Given the description of an element on the screen output the (x, y) to click on. 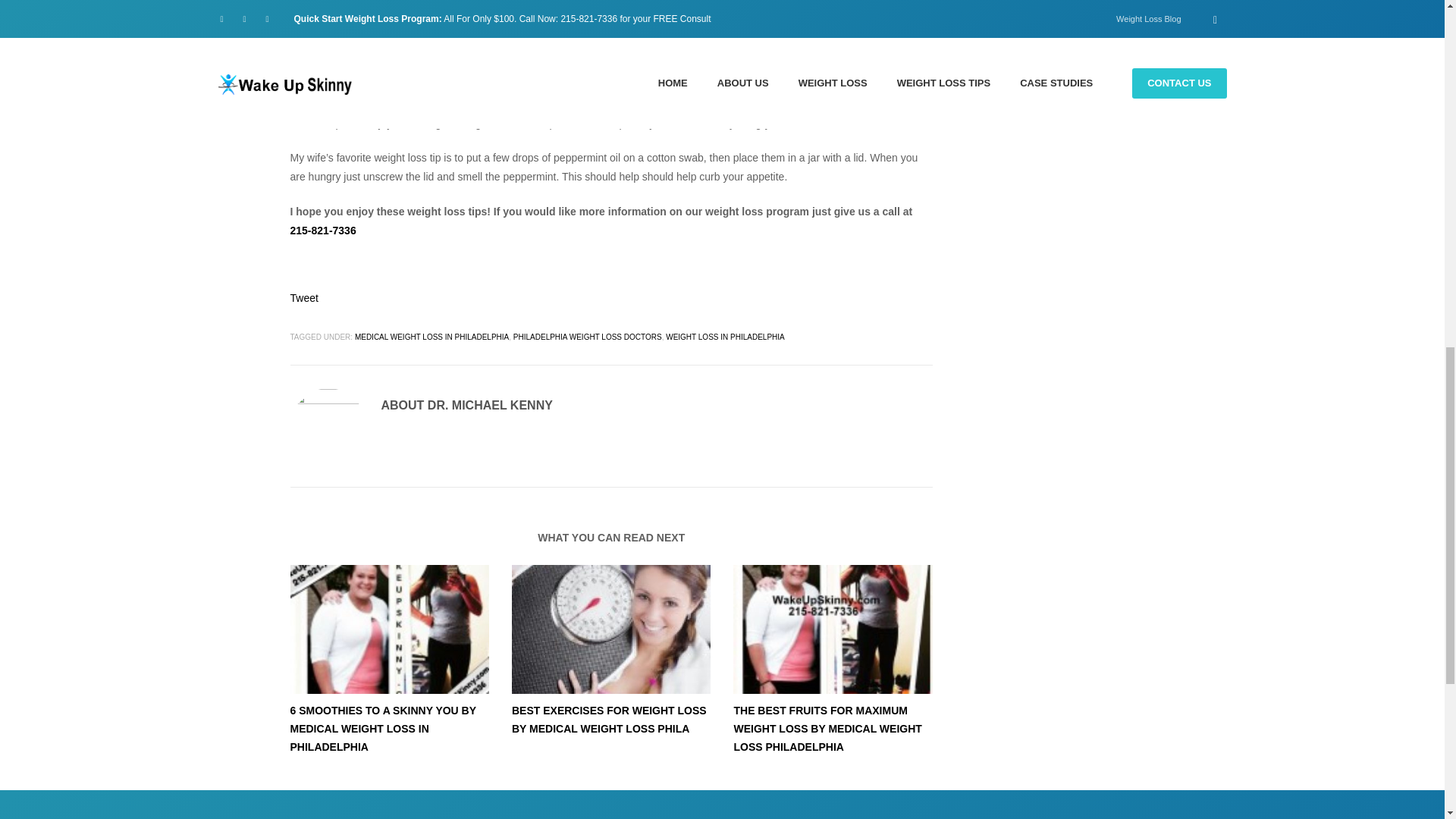
Tweet (303, 297)
WEIGHT LOSS IN PHILADELPHIA (724, 336)
MEDICAL WEIGHT LOSS IN PHILADELPHIA (431, 336)
medical weight loss philadelphia (388, 629)
weight loss exercises phila (611, 629)
PHILADELPHIA WEIGHT LOSS DOCTORS (587, 336)
215-821-7336 (322, 230)
